Given the description of an element on the screen output the (x, y) to click on. 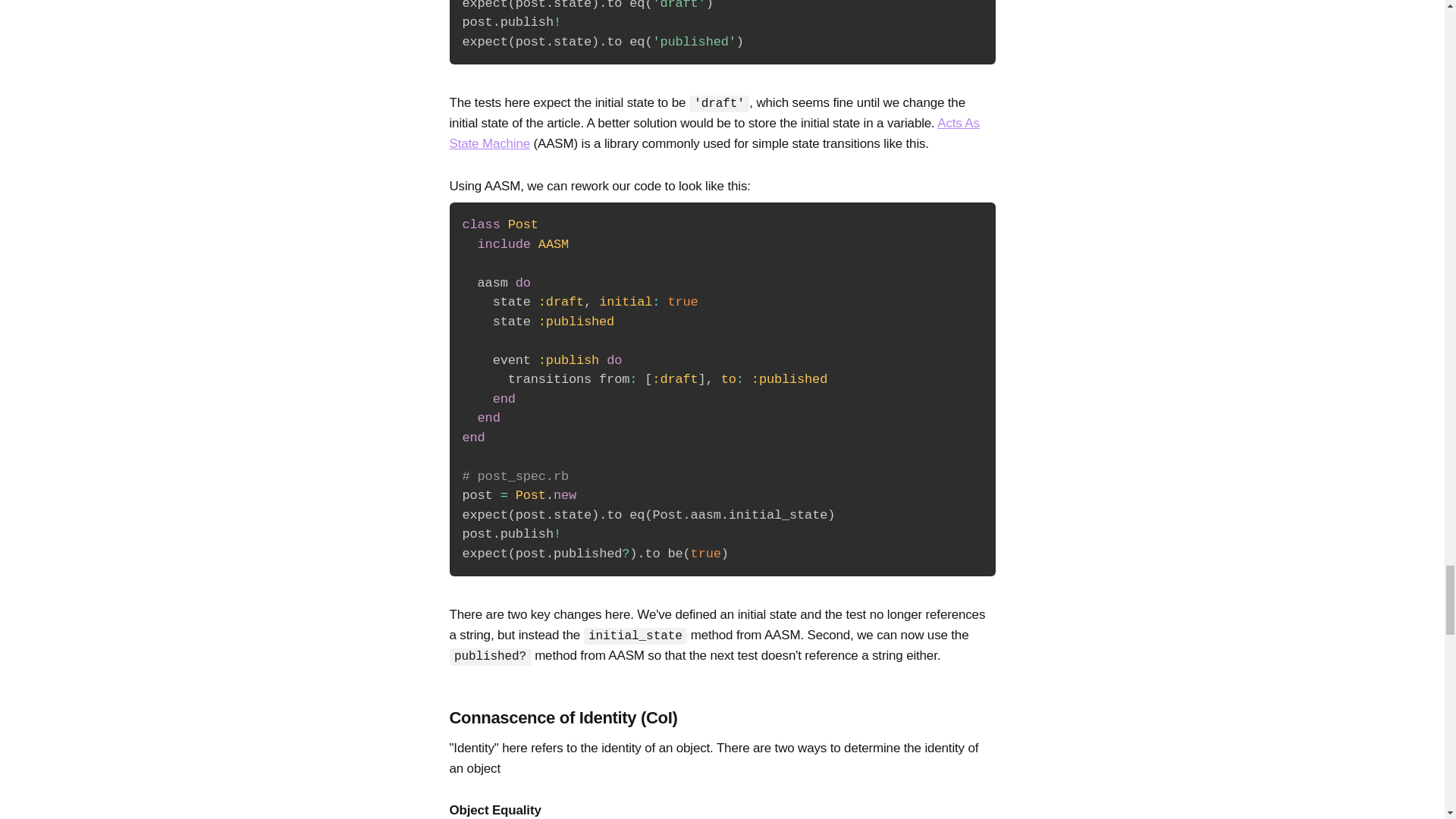
Acts As State Machine (713, 133)
